Given the description of an element on the screen output the (x, y) to click on. 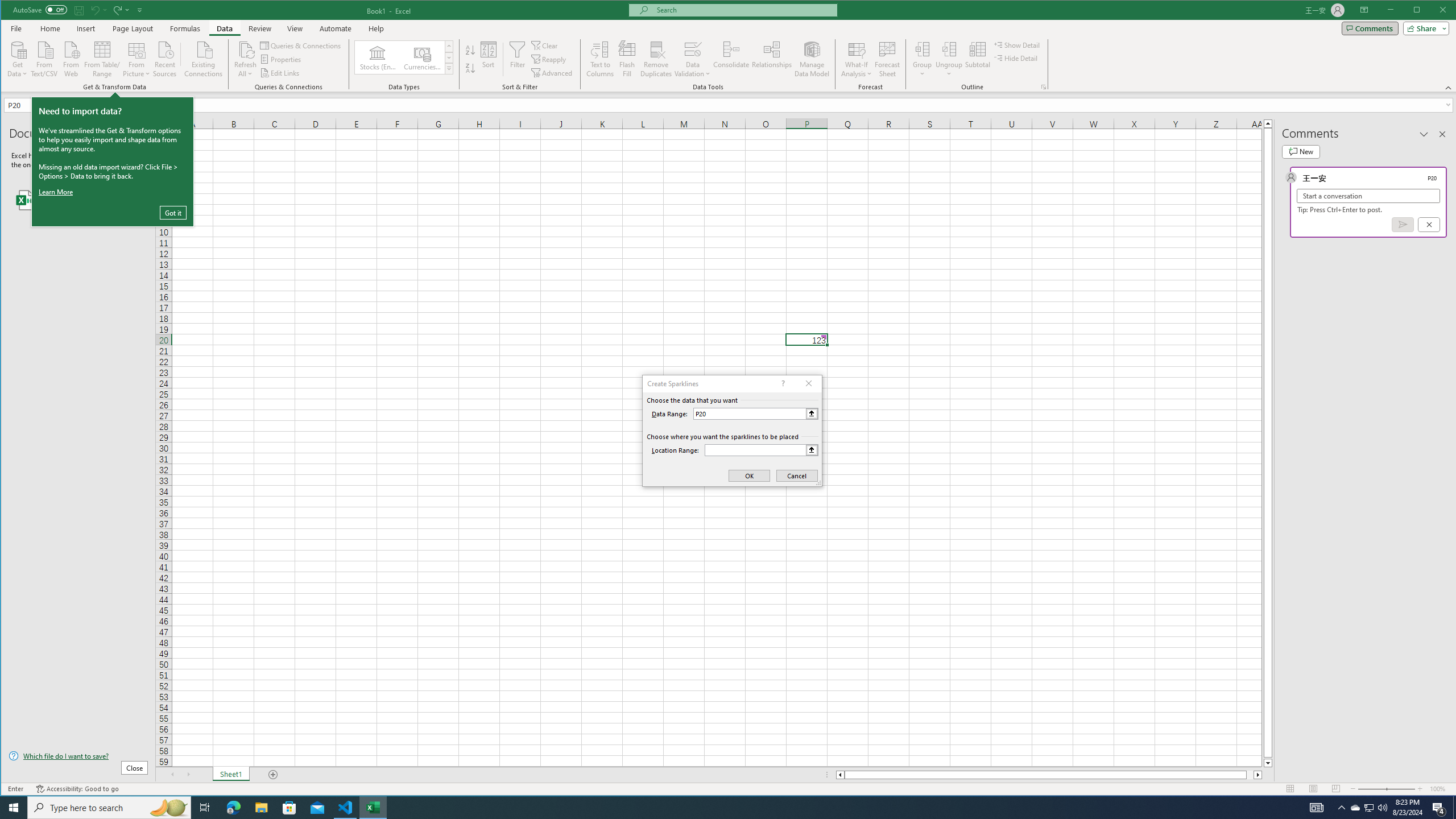
Ribbon Display Options (1364, 9)
Class: NetUIImage (448, 68)
Microsoft search (742, 10)
